Given the description of an element on the screen output the (x, y) to click on. 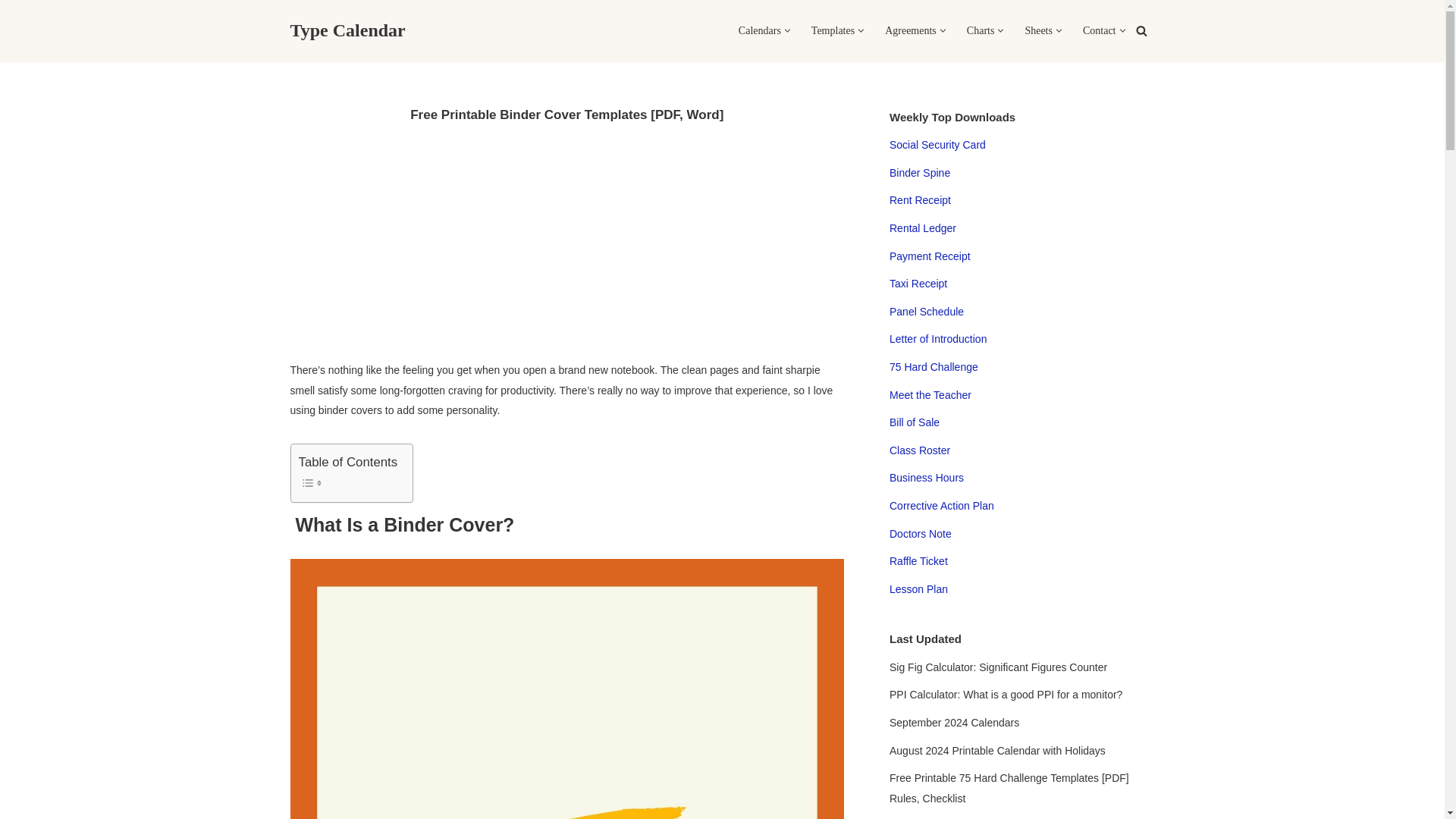
Calendars (759, 30)
Type Calendar (346, 30)
Skip to content (11, 31)
Templates (832, 30)
Charts (980, 30)
Agreements (910, 30)
